Given the description of an element on the screen output the (x, y) to click on. 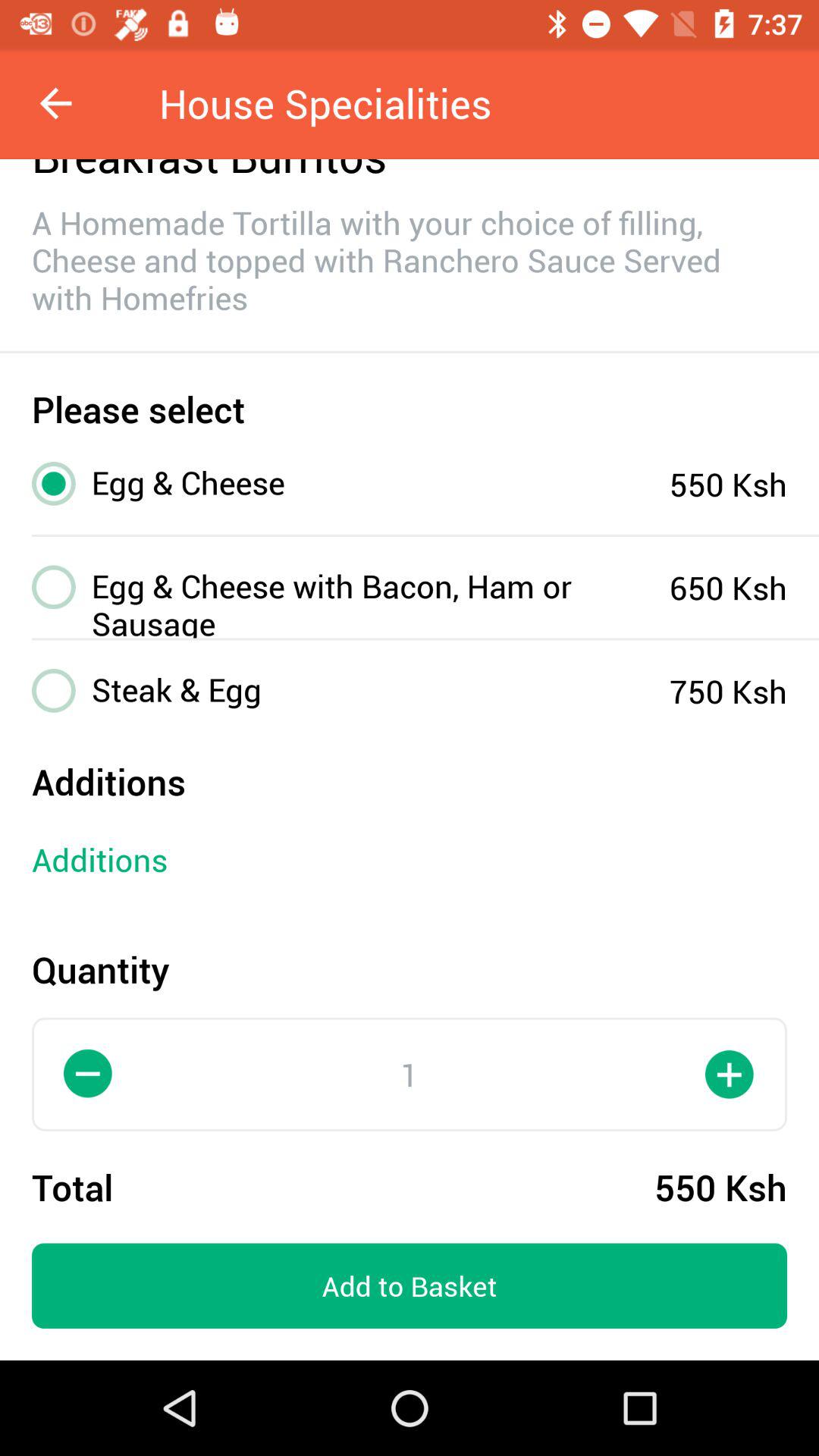
choose the icon next to the 1 item (88, 1074)
